Given the description of an element on the screen output the (x, y) to click on. 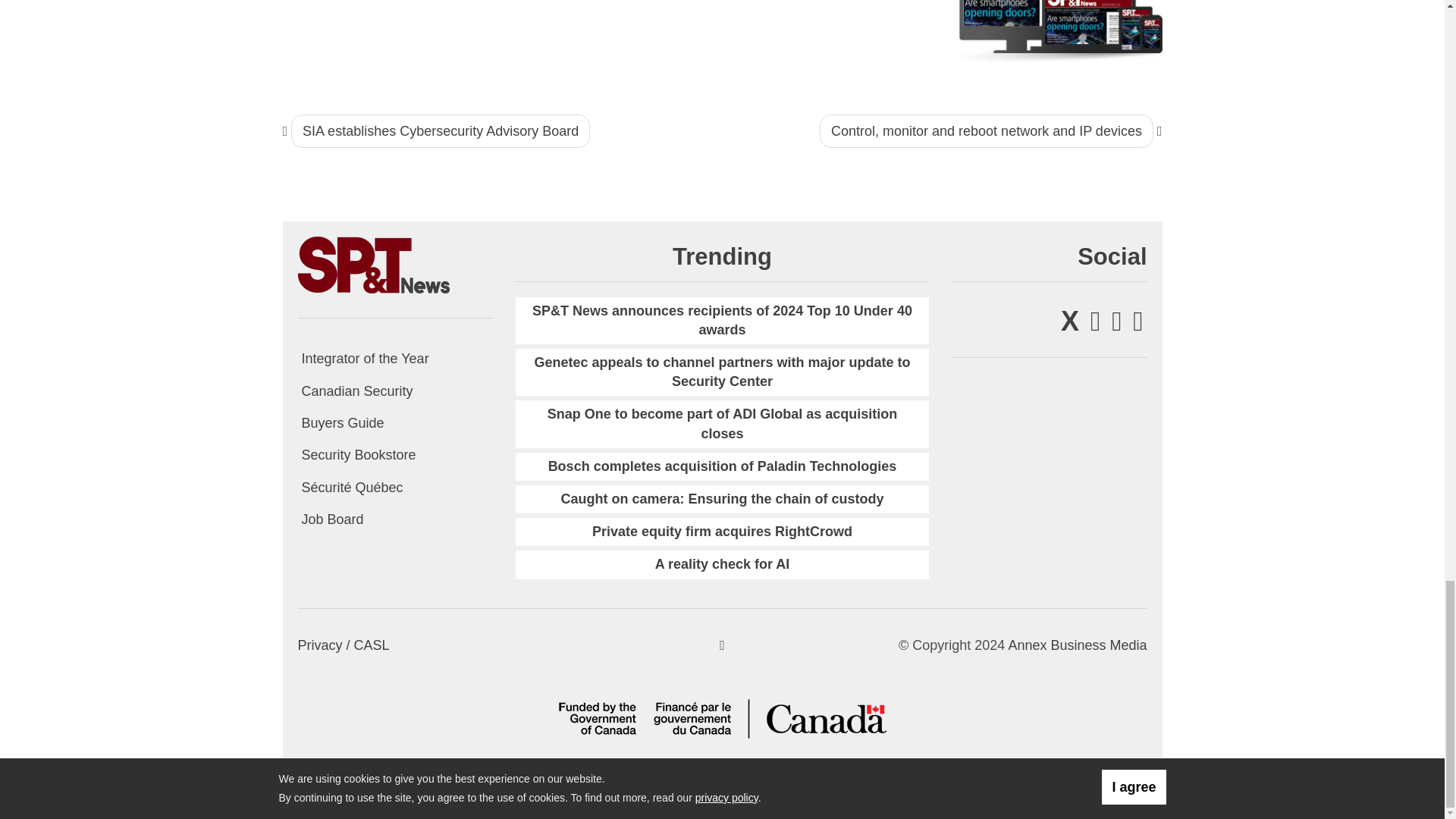
Annex Business Media (1077, 645)
